Given the description of an element on the screen output the (x, y) to click on. 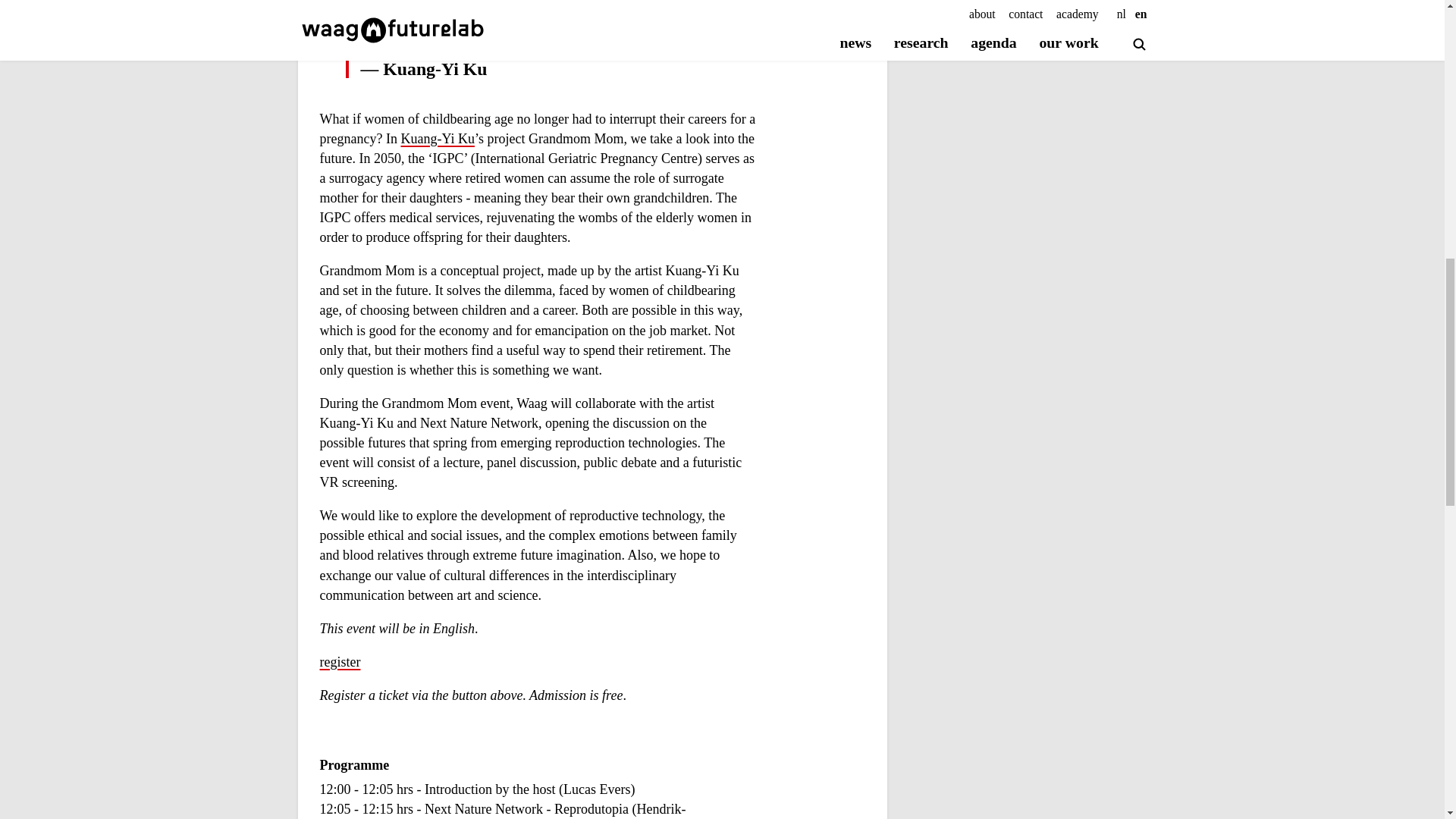
register (340, 662)
Kuang-Yi Ku (437, 139)
